Given the description of an element on the screen output the (x, y) to click on. 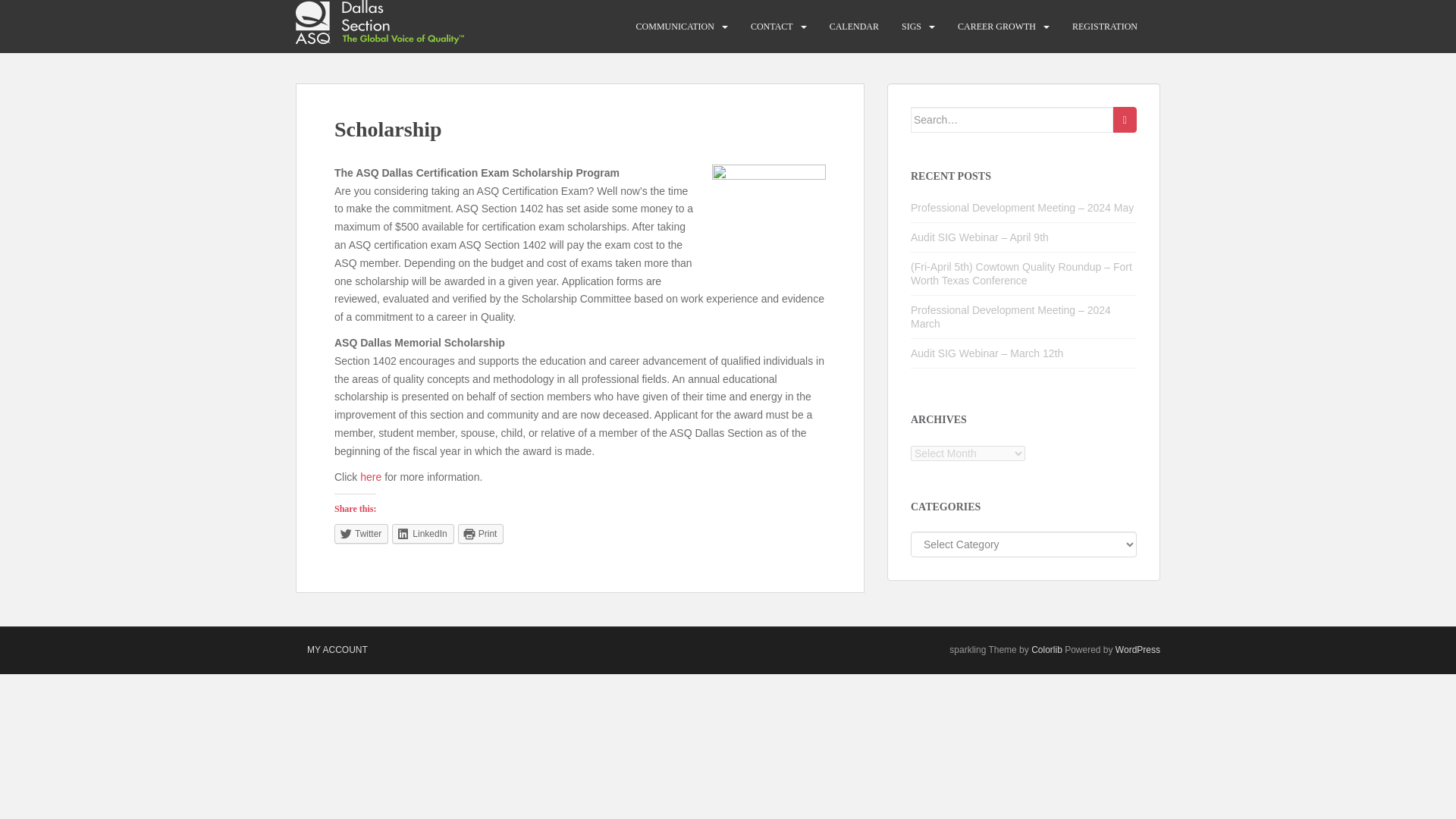
CAREER GROWTH (996, 26)
REGISTRATION (1104, 26)
Click to print (480, 533)
LinkedIn (421, 533)
CONTACT (772, 26)
Search for: (1012, 119)
MY ACCOUNT (336, 649)
COMMUNICATION (675, 26)
Search (1125, 119)
Colorlib (1046, 649)
CALENDAR (854, 26)
Click to share on Twitter (361, 533)
Scholarship (768, 221)
WordPress (1137, 649)
here (370, 476)
